Given the description of an element on the screen output the (x, y) to click on. 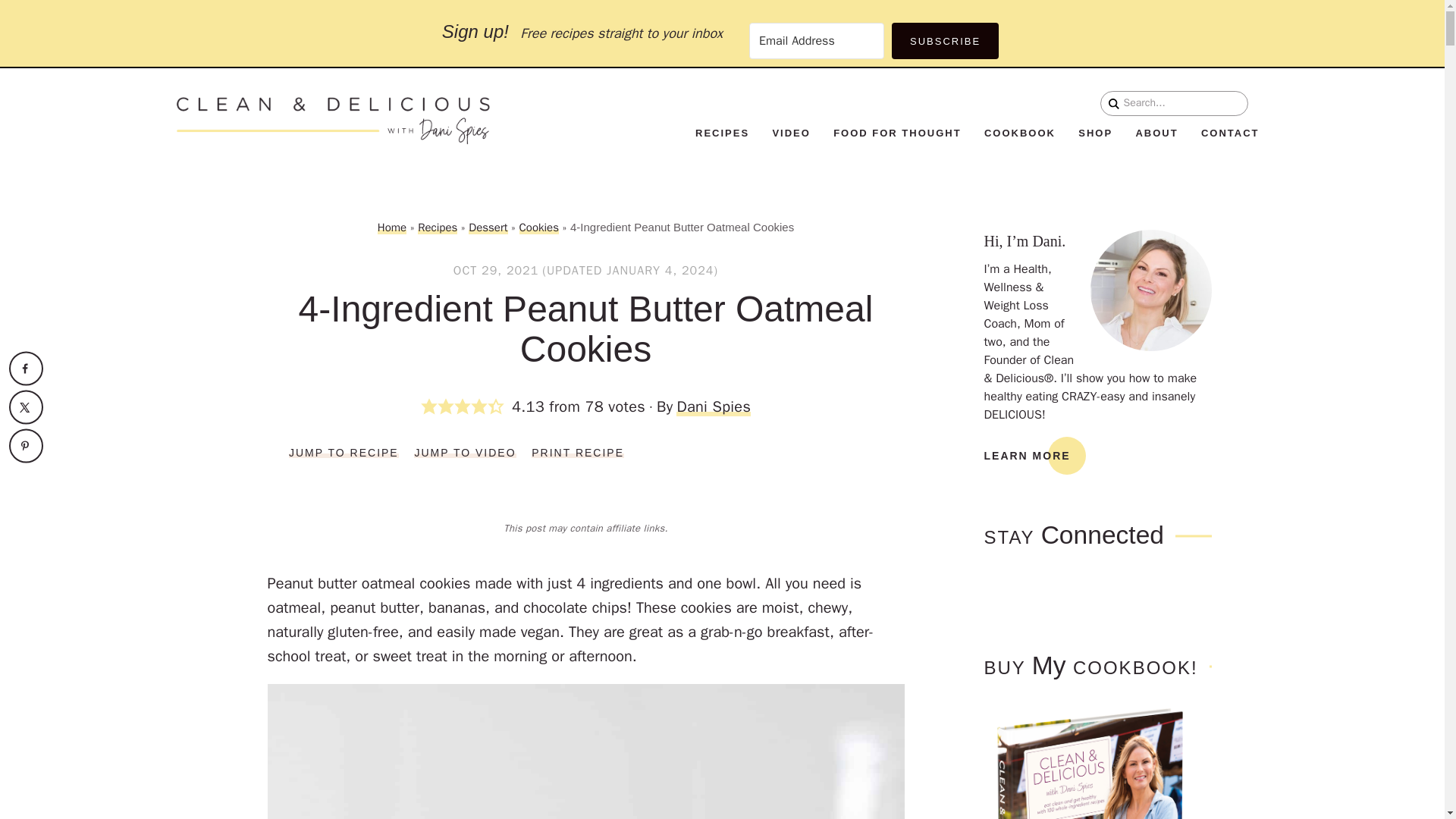
VIDEO (790, 133)
ABOUT (1156, 133)
PRINT RECIPE (577, 452)
JUMP TO RECIPE (343, 452)
Dessert (487, 227)
Cookies (539, 227)
Share on Facebook (25, 368)
COOKBOOK (1019, 133)
Dani Spies (714, 406)
Recipes (437, 227)
RECIPES (722, 133)
4.13 from 78 votes (538, 407)
SUBSCRIBE (944, 40)
Home (391, 227)
CONTACT (1230, 133)
